Given the description of an element on the screen output the (x, y) to click on. 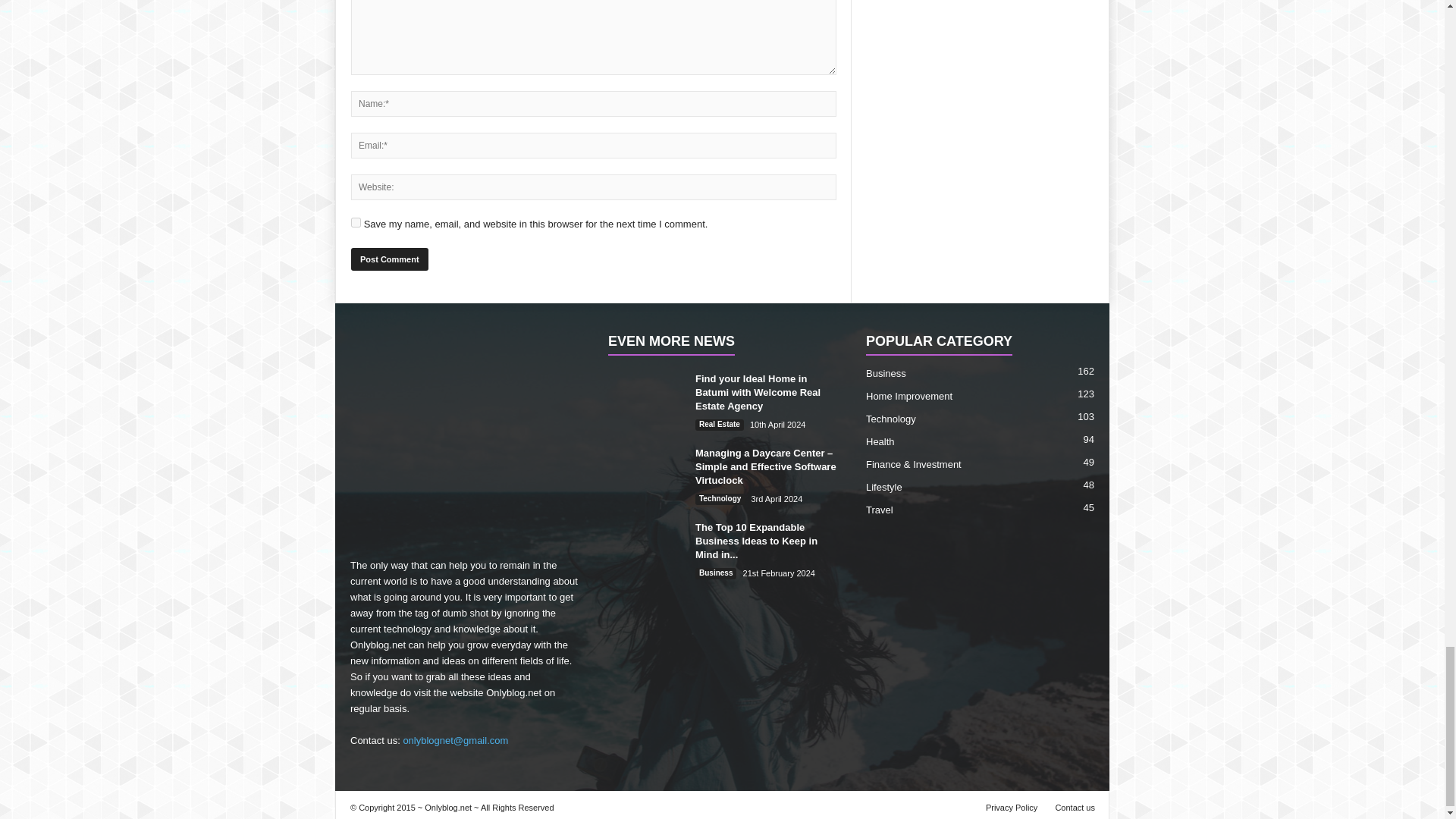
yes (355, 222)
Post Comment (389, 259)
